Given the description of an element on the screen output the (x, y) to click on. 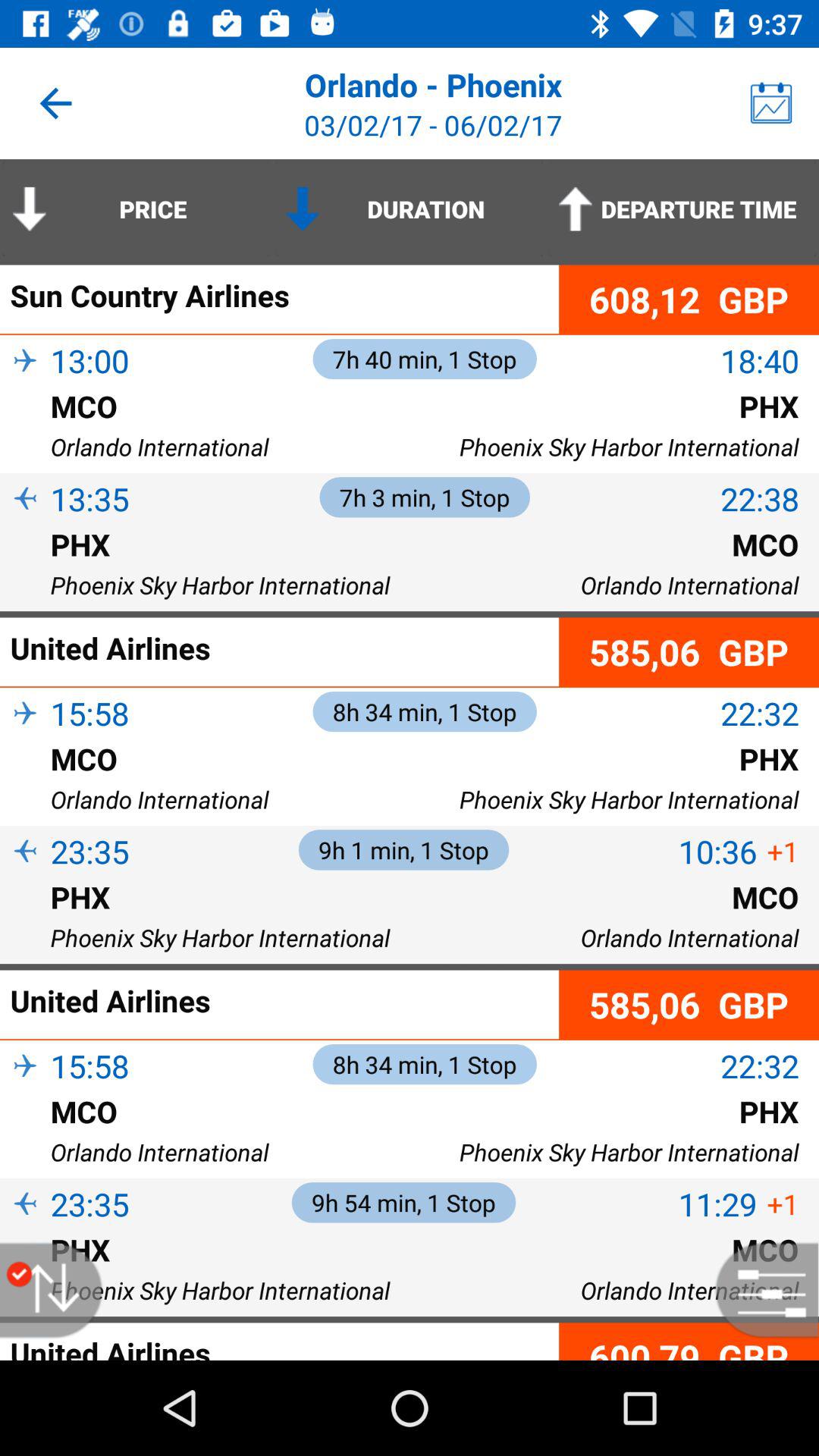
tap item to the left of 15:58 icon (25, 738)
